Given the description of an element on the screen output the (x, y) to click on. 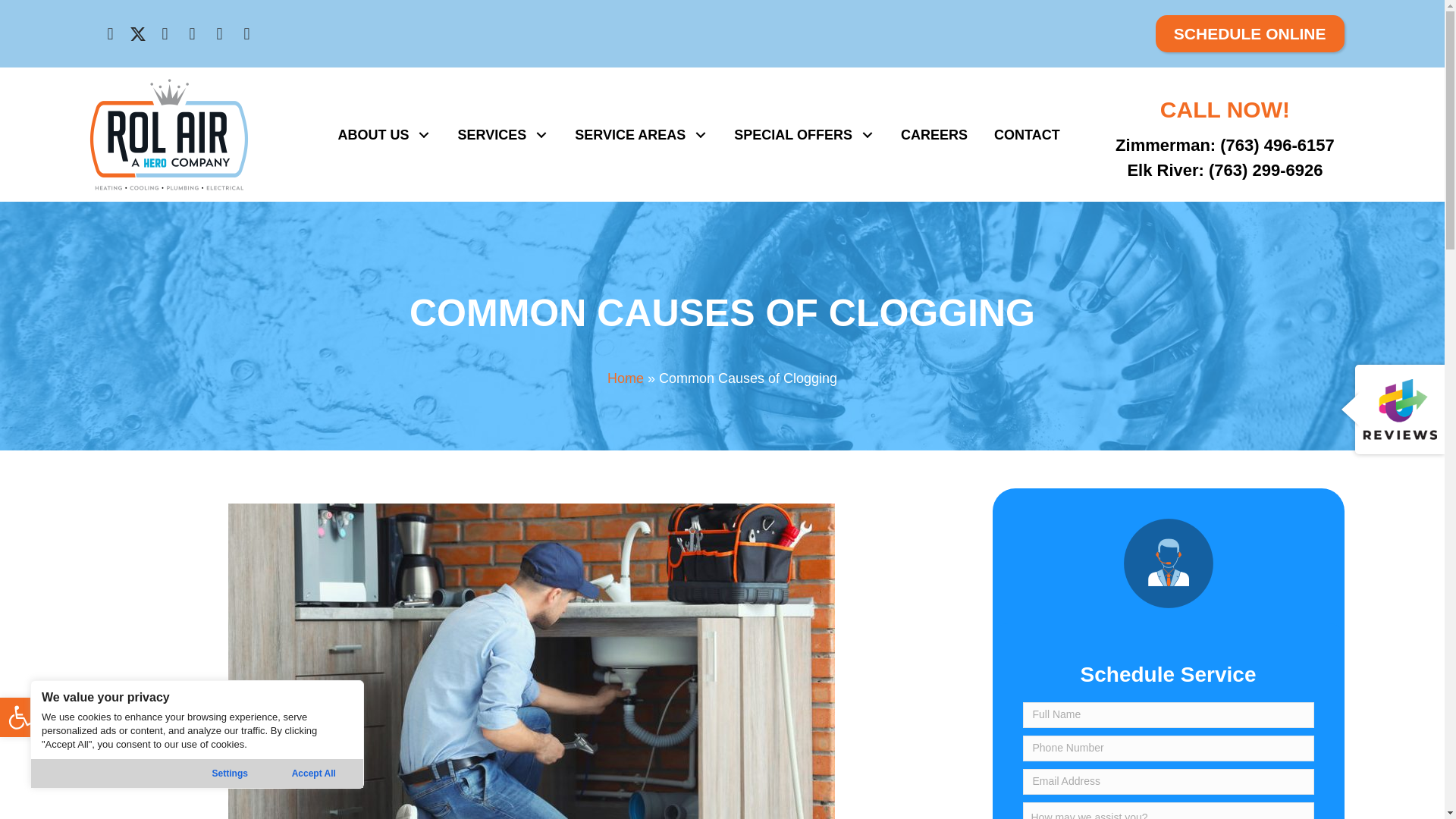
Accept All (313, 773)
CALL NOW! (1225, 109)
Instagram (164, 34)
Accessibility Tools (19, 717)
Settings (229, 773)
help you (1168, 563)
SCHEDULE ONLINE (1249, 33)
Accessibility Tools (19, 717)
YouTube (19, 717)
ABOUT US (192, 34)
CALL NOW! (384, 134)
